Given the description of an element on the screen output the (x, y) to click on. 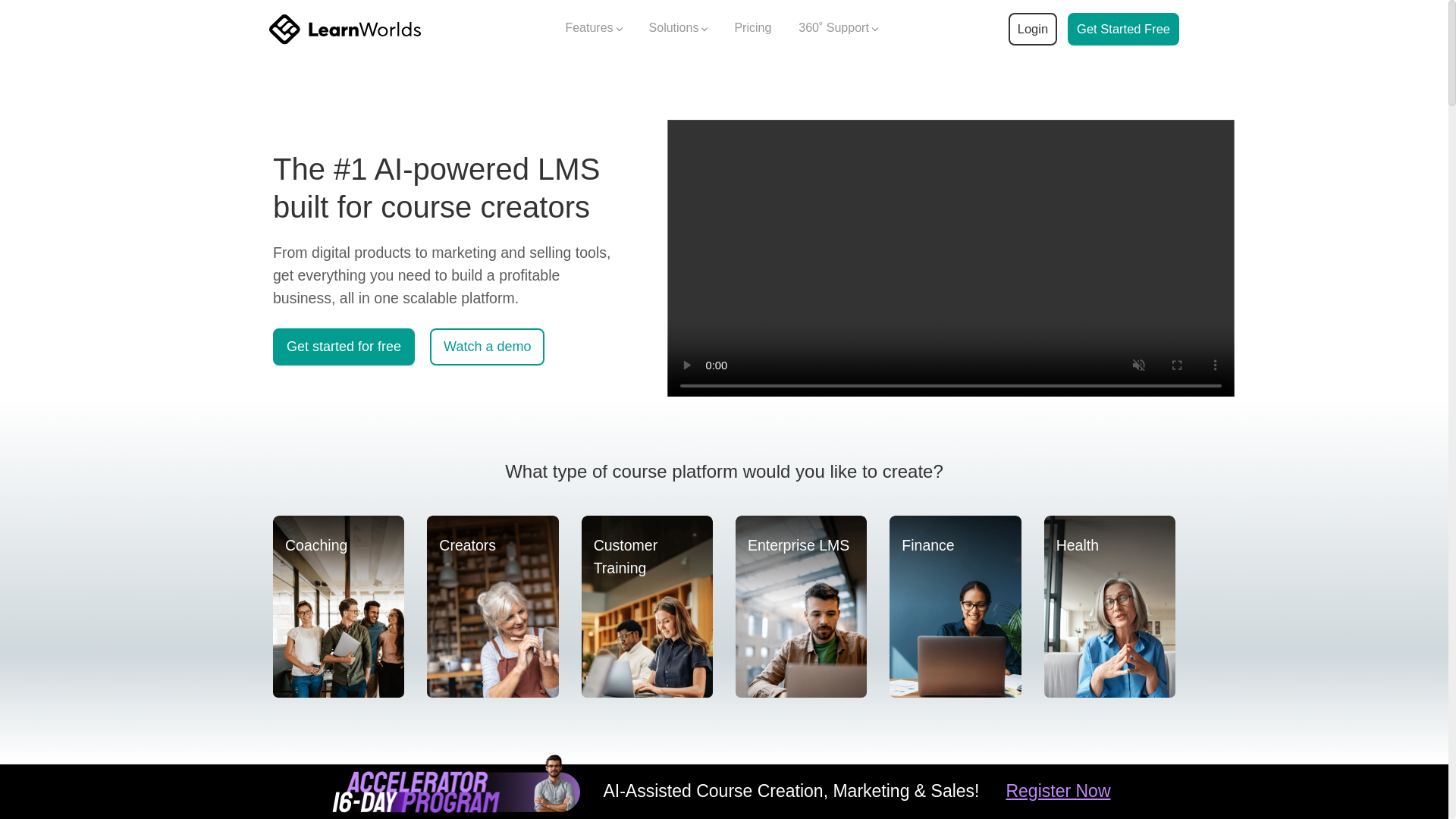
Login to your LearnWorlds account (1032, 29)
Start your demo with LearnWorlds (1123, 29)
LearnWorlds home (344, 28)
Features (592, 29)
